Given the description of an element on the screen output the (x, y) to click on. 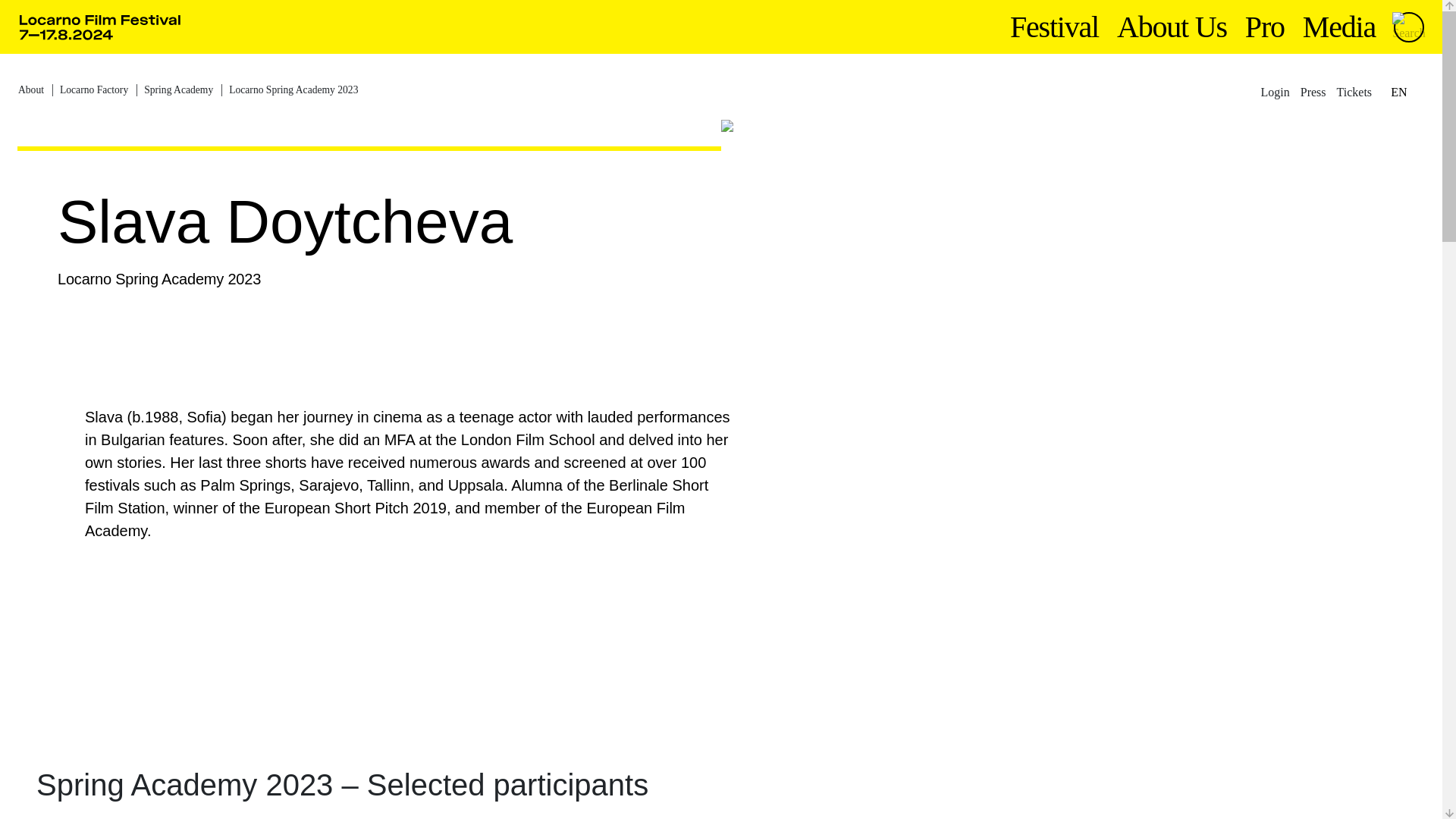
home (99, 27)
